Given the description of an element on the screen output the (x, y) to click on. 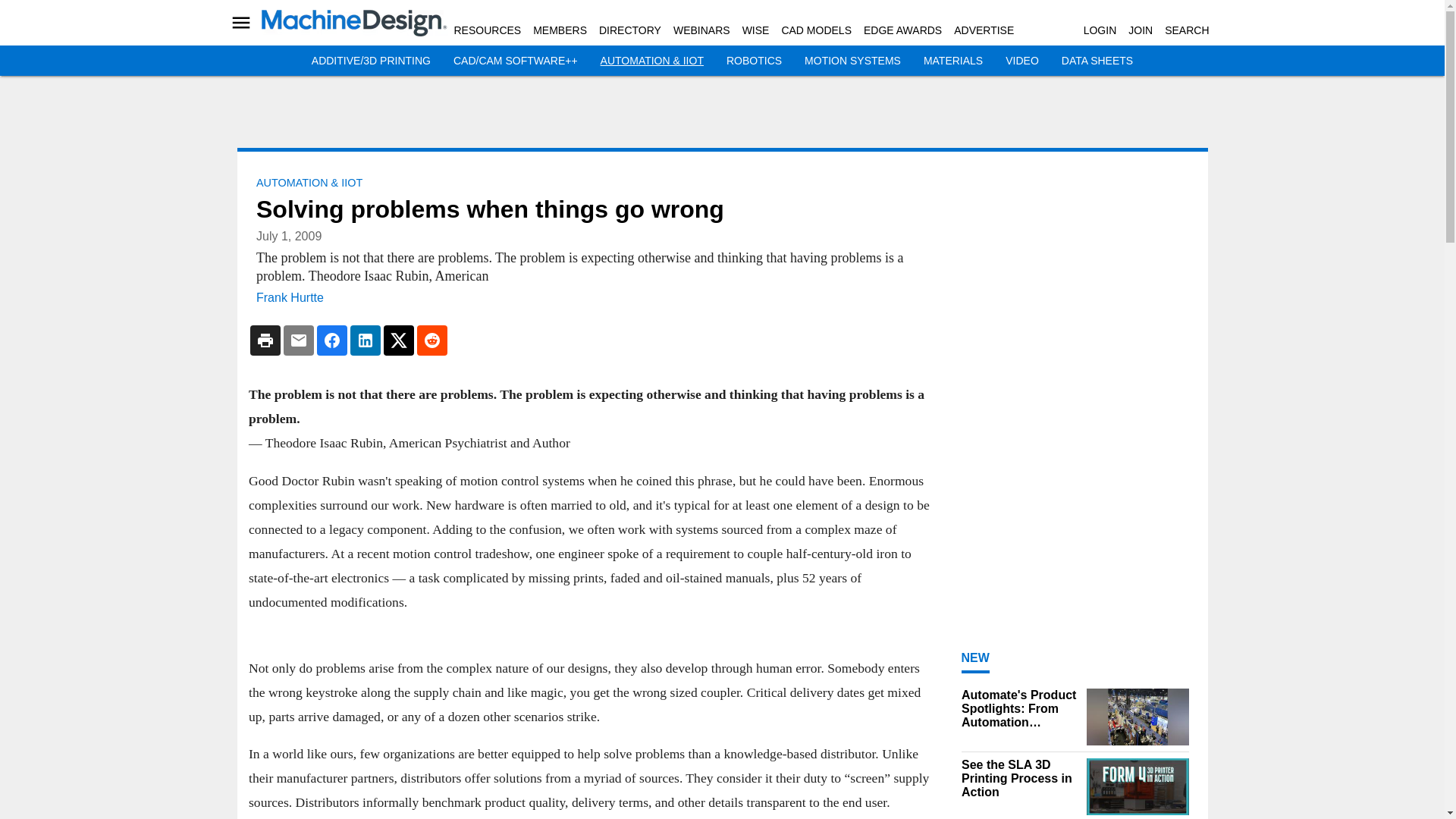
VIDEO (1022, 60)
WEBINARS (701, 30)
JOIN (1140, 30)
LOGIN (1099, 30)
SEARCH (1186, 30)
RESOURCES (486, 30)
CAD MODELS (815, 30)
ADVERTISE (983, 30)
MEMBERS (559, 30)
MOTION SYSTEMS (853, 60)
